Given the description of an element on the screen output the (x, y) to click on. 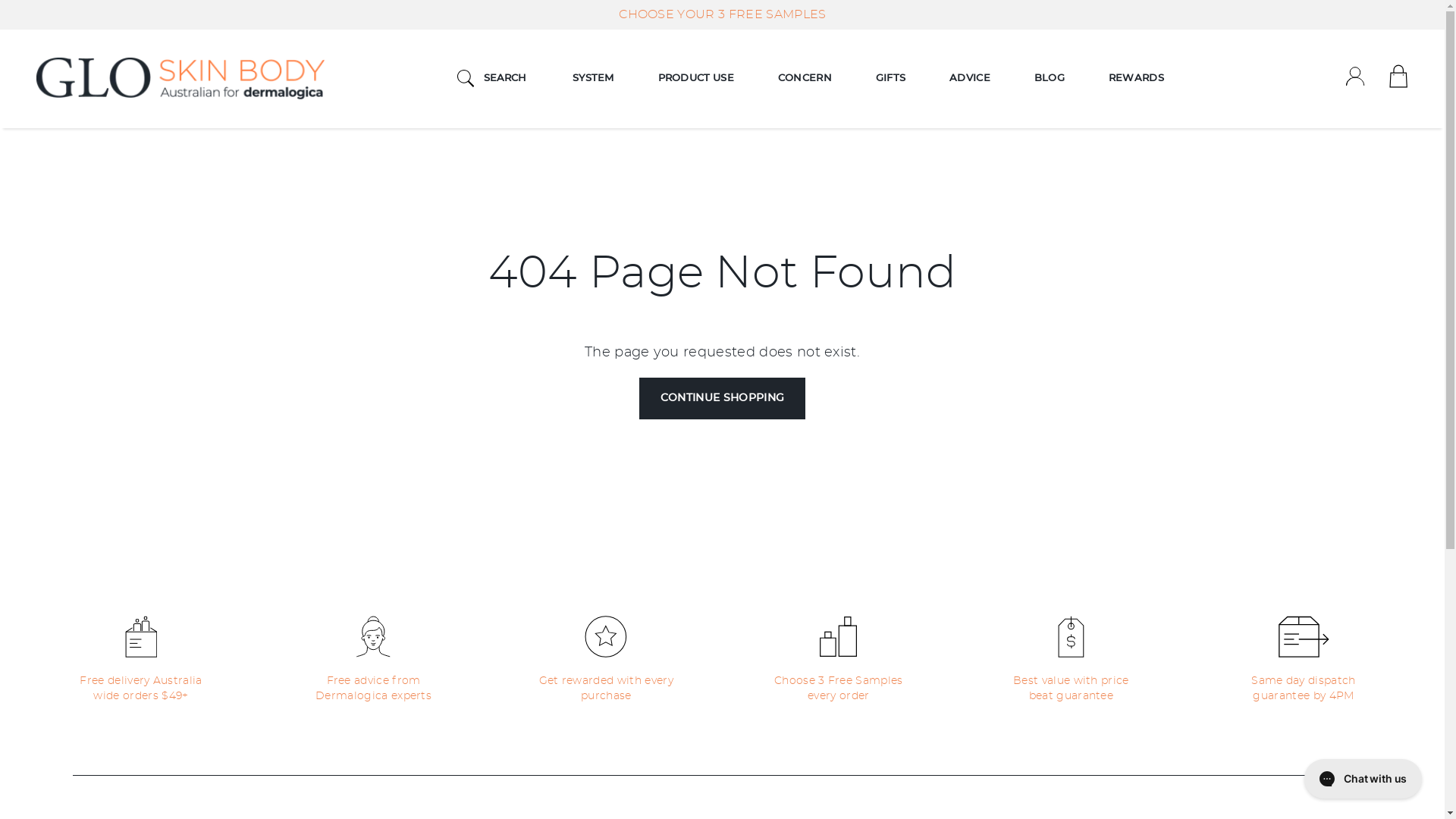
SYSTEM Element type: text (593, 78)
CONTINUE SHOPPING Element type: text (722, 398)
PRODUCT USE Element type: text (696, 78)
GIFTS Element type: text (890, 78)
REWARDS Element type: text (1136, 78)
FREE DERMALOGICA 4PC GIFT WITH $159+ SPEND SITEWIDE Element type: text (722, 14)
ADVICE Element type: text (969, 78)
CONCERN Element type: text (804, 78)
Home Element type: hover (180, 78)
SEARCH Element type: text (492, 78)
BLOG Element type: text (1049, 78)
Gorgias live chat messenger Element type: hover (1362, 778)
